Given the description of an element on the screen output the (x, y) to click on. 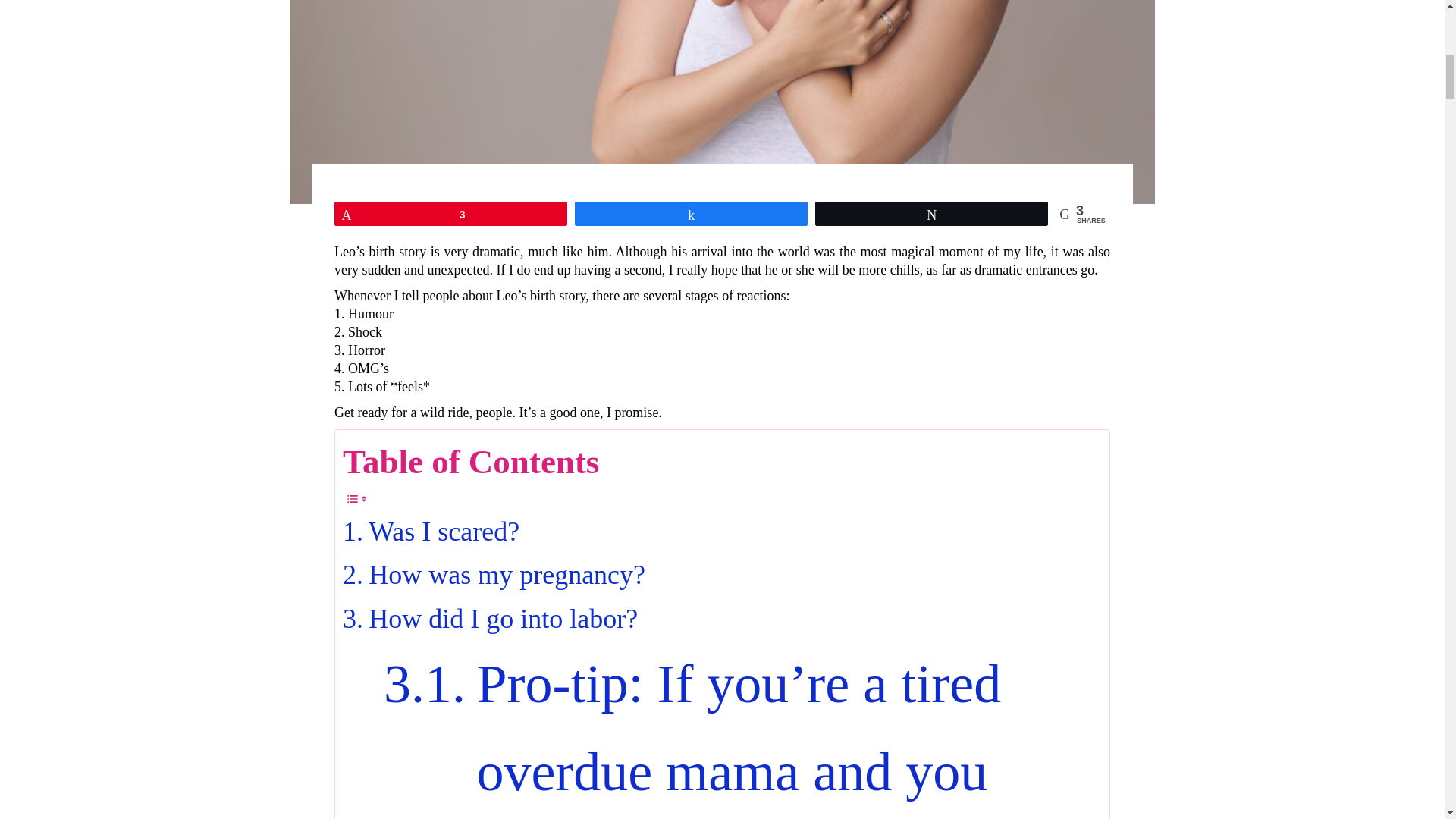
How did I go into labor? (489, 619)
Was I scared? (430, 532)
3 (450, 213)
Was I scared? (430, 532)
How was my pregnancy? (493, 575)
How did I go into labor? (489, 619)
How was my pregnancy? (493, 575)
